Given the description of an element on the screen output the (x, y) to click on. 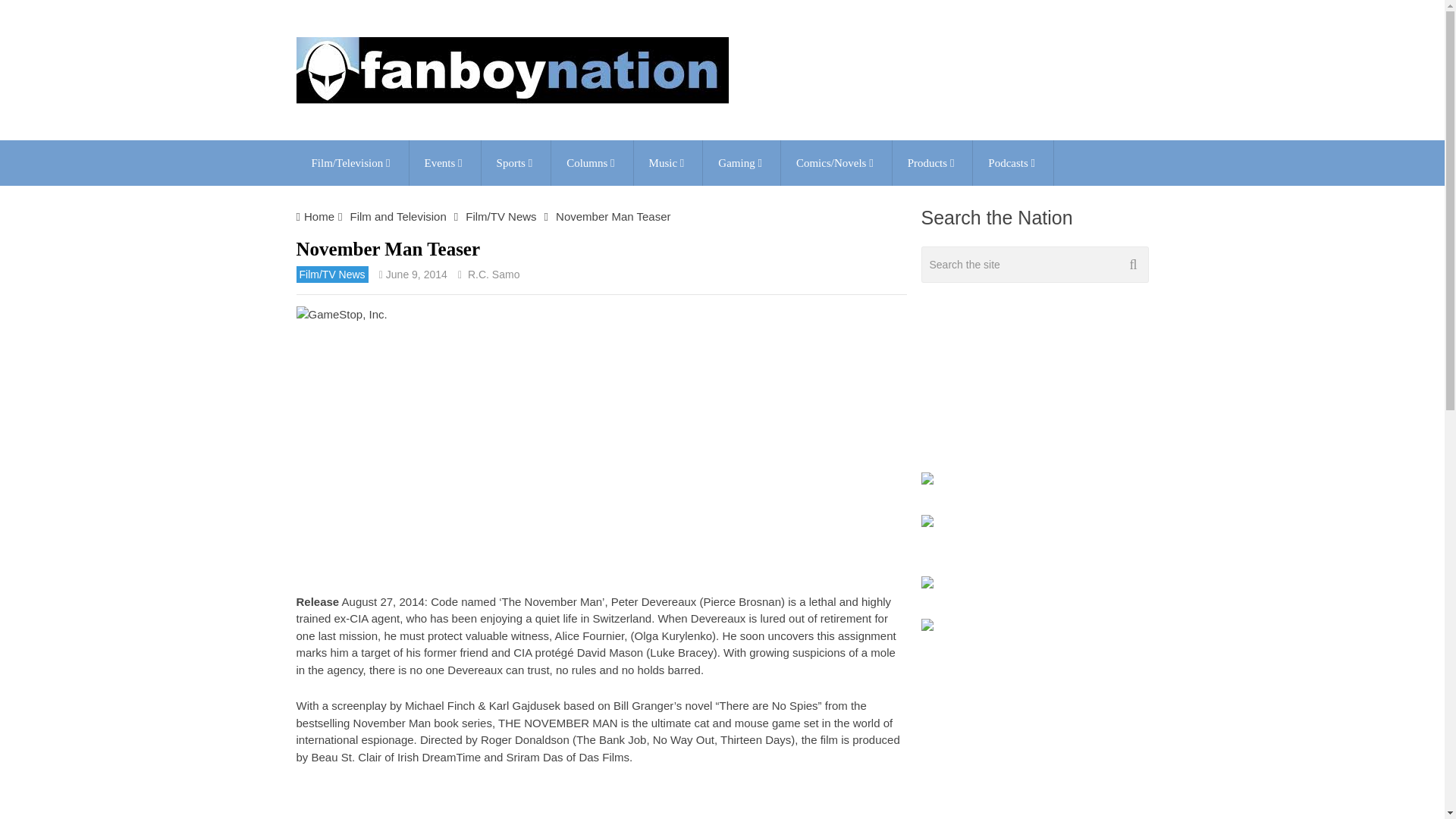
Events (444, 162)
Film and Television (397, 215)
R.C. Samo (493, 274)
Columns (591, 162)
Podcasts (1012, 162)
Sports (516, 162)
Cons and Expos (444, 162)
Home (319, 215)
Music (668, 162)
Gaming (741, 162)
Products (932, 162)
